Given the description of an element on the screen output the (x, y) to click on. 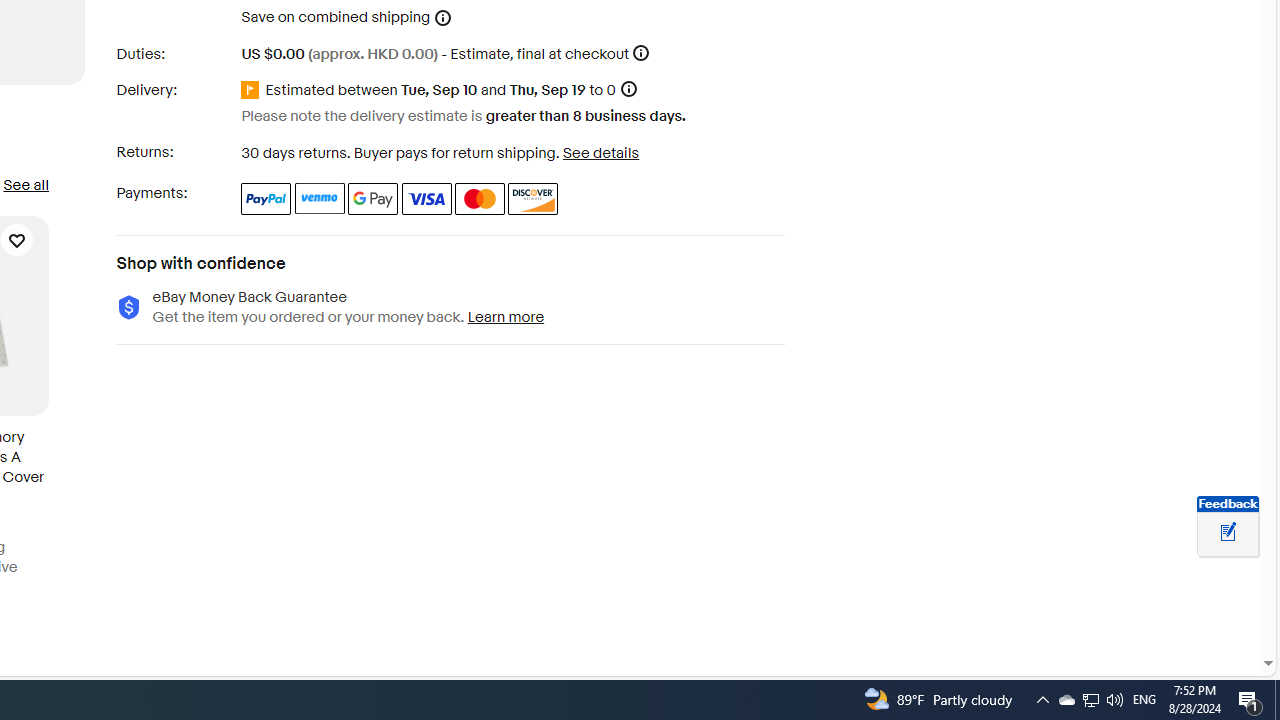
See all (25, 184)
Delivery alert flag (253, 89)
See details - for more information about returns (600, 152)
More information (641, 52)
More information on Combined Shipping. Opens a layer. (443, 17)
Information - Estimated delivery date - opens a layer (628, 89)
Help, opens dialogs (1217, 632)
Venmo (319, 198)
PayPal (265, 198)
Master Card (479, 198)
Google Pay (373, 198)
Leave feedback about your eBay ViewItem experience (1227, 533)
